Given the description of an element on the screen output the (x, y) to click on. 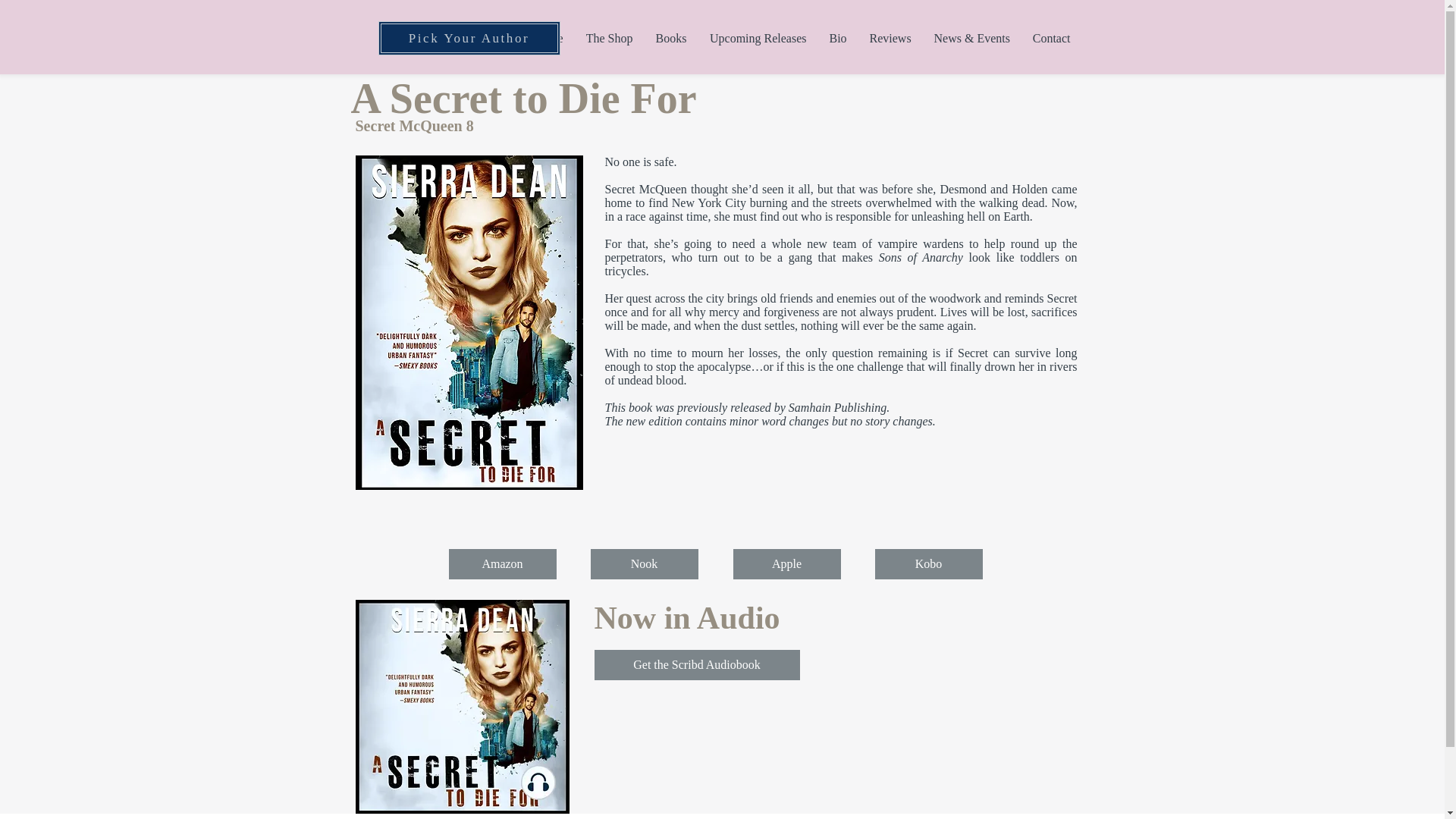
Upcoming Releases (756, 37)
1.png (462, 706)
Pick Your Author (468, 38)
Bio (836, 37)
Nook (643, 563)
Kobo (928, 563)
Reviews (891, 37)
Apple (786, 563)
The Shop (610, 37)
Home (547, 37)
Contact (1050, 37)
Amazon (502, 563)
Get the Scribd Audiobook (696, 665)
Books (671, 37)
